Given the description of an element on the screen output the (x, y) to click on. 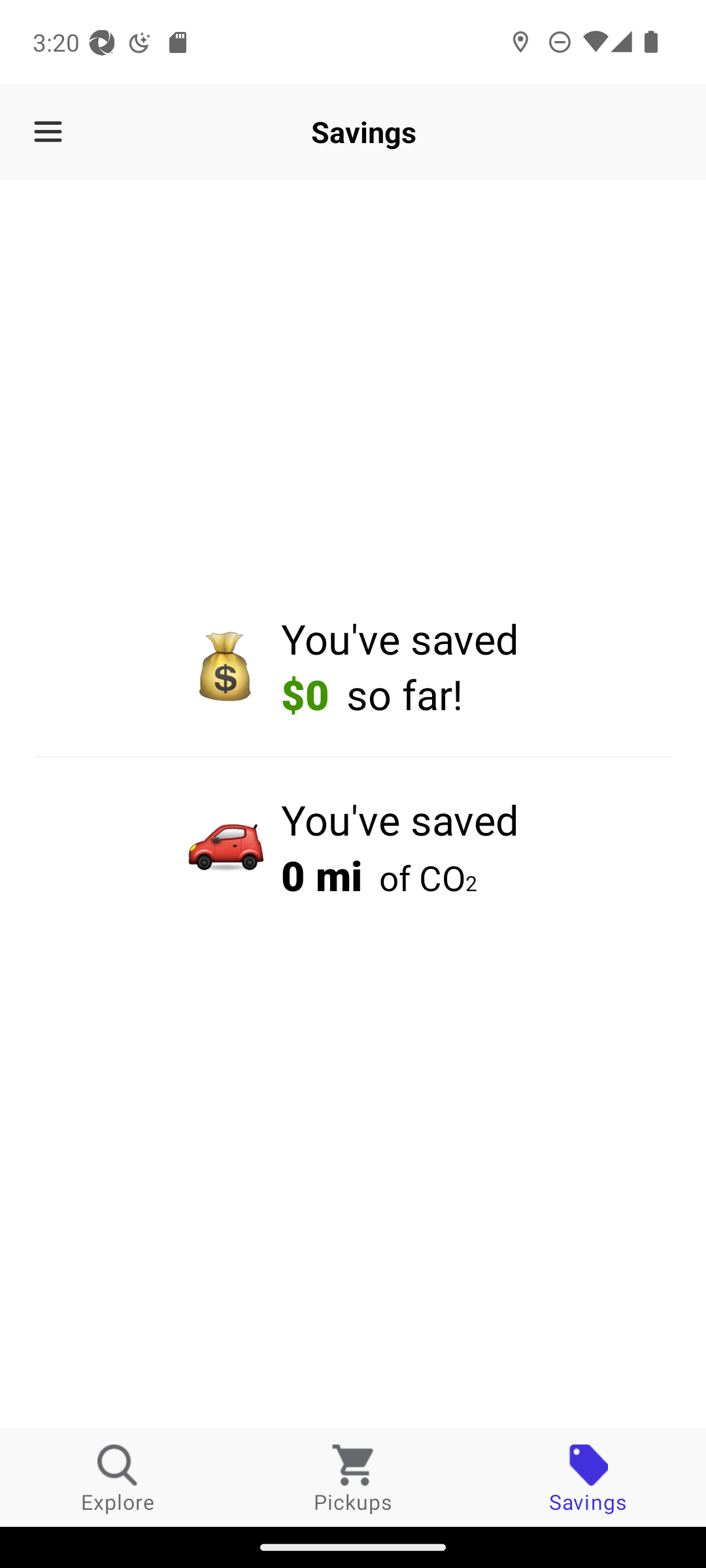
Navigate up (48, 131)
Explore (117, 1478)
Pickups (352, 1478)
